Given the description of an element on the screen output the (x, y) to click on. 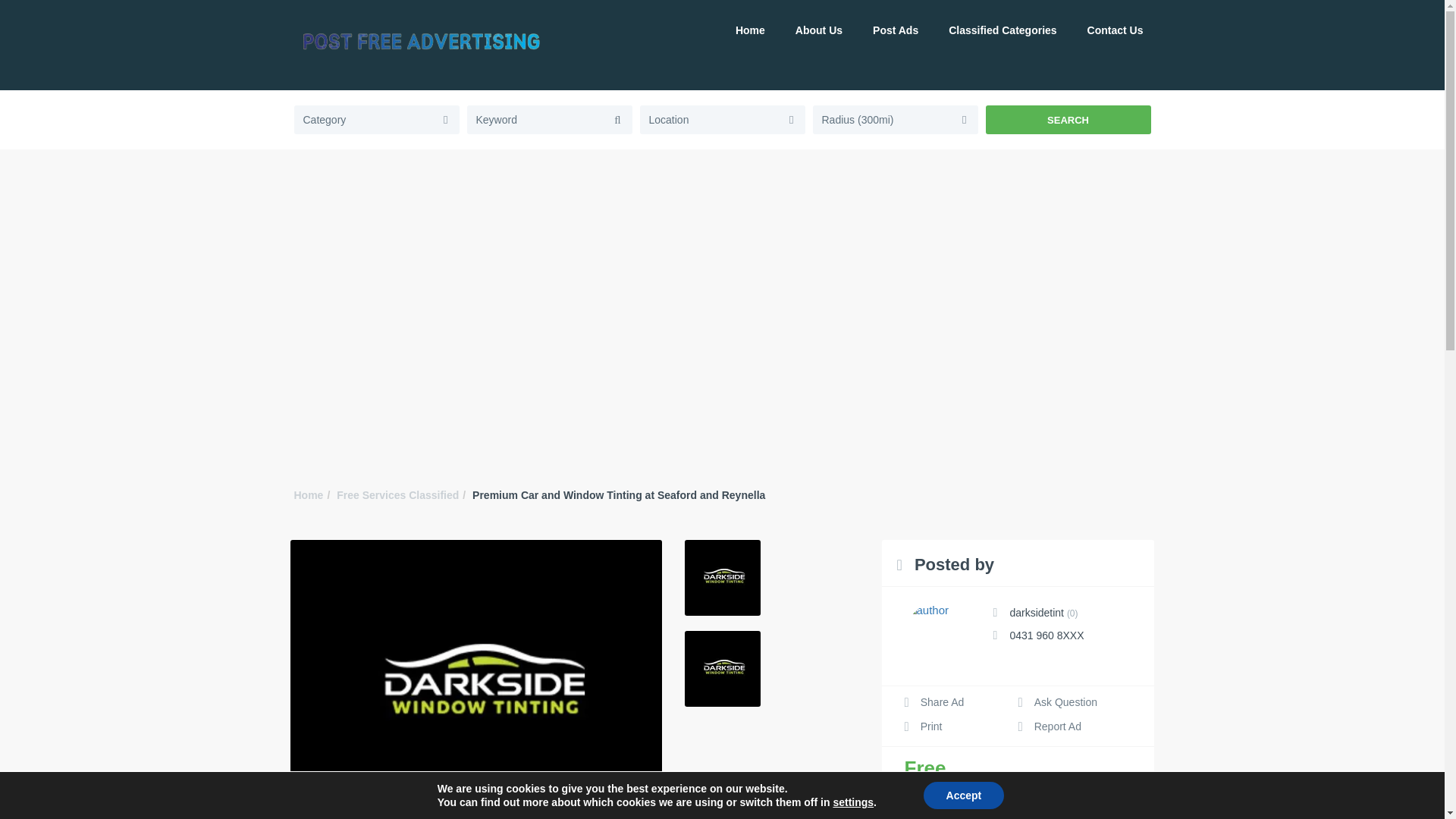
Classified Categories (1003, 30)
Home (308, 494)
Contact Us (1114, 30)
Advertisement (721, 411)
Free Services Classified (397, 494)
Report Ad (1048, 726)
SEARCH (1068, 119)
Post Ads (895, 30)
0431 960 8XXX (1046, 635)
About Us (818, 30)
Print (923, 726)
Category (375, 119)
Click to reveal number (1046, 635)
Posted Ads (1072, 613)
Ask Question (1056, 702)
